Given the description of an element on the screen output the (x, y) to click on. 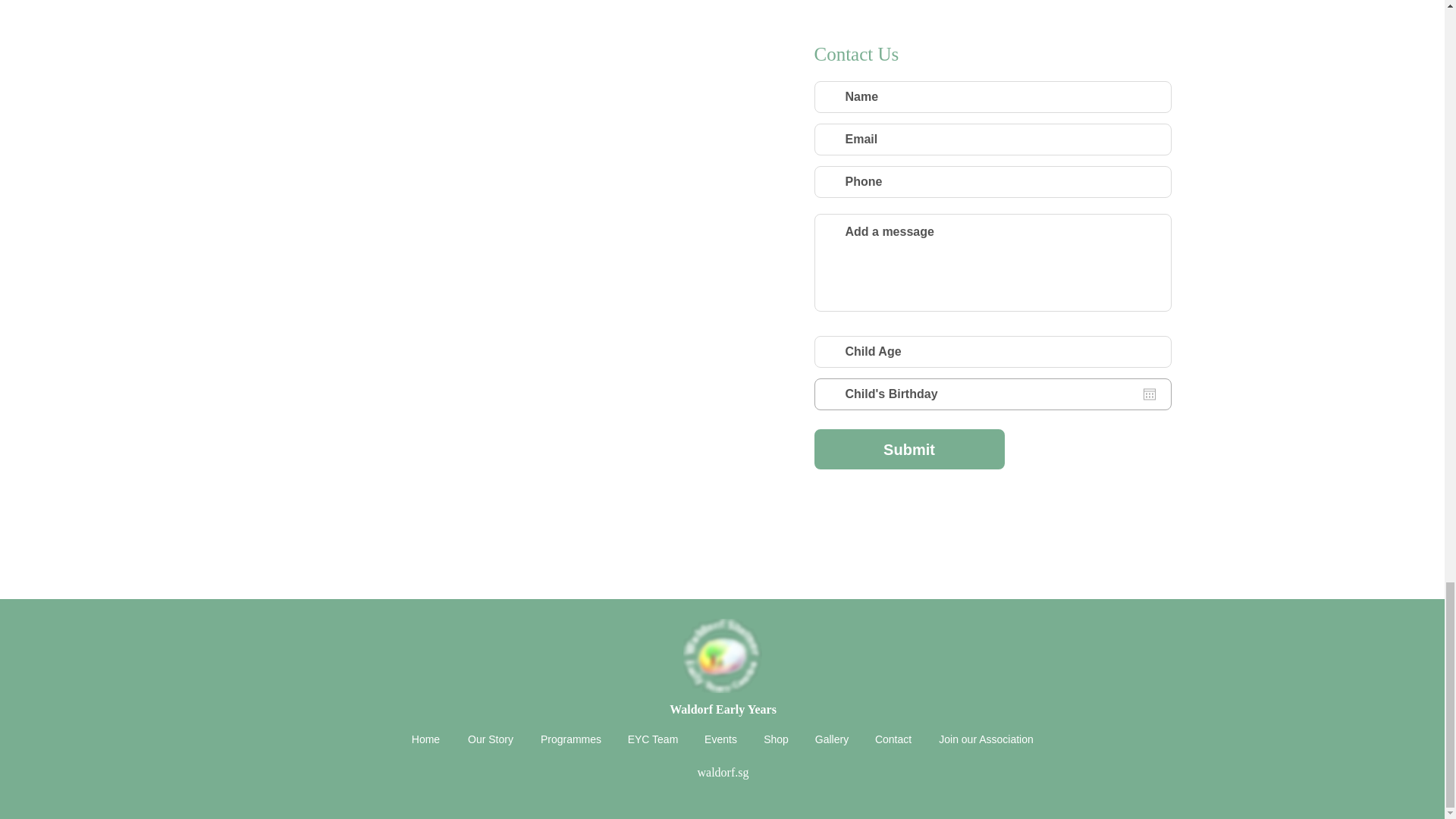
EYC Team (652, 739)
Contact (892, 739)
Home (424, 739)
Our Story (489, 739)
Join our Association (986, 739)
Programmes (570, 739)
Events (721, 739)
Gallery (831, 739)
Shop (776, 739)
Submit (908, 449)
